Given the description of an element on the screen output the (x, y) to click on. 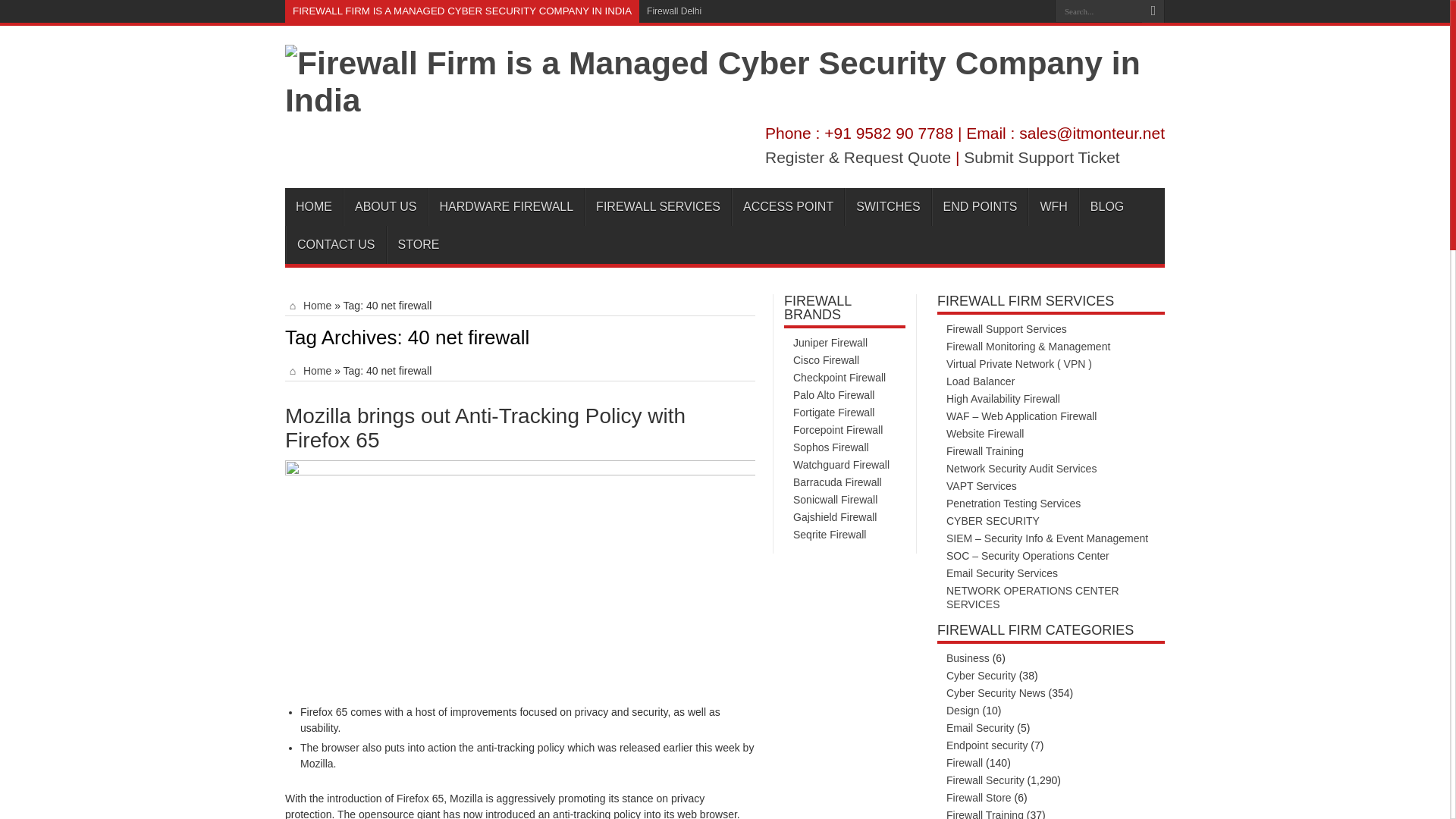
Search... (1097, 11)
Firewall Delhi (673, 11)
Search (1152, 11)
Firewall Delhi (673, 11)
